Given the description of an element on the screen output the (x, y) to click on. 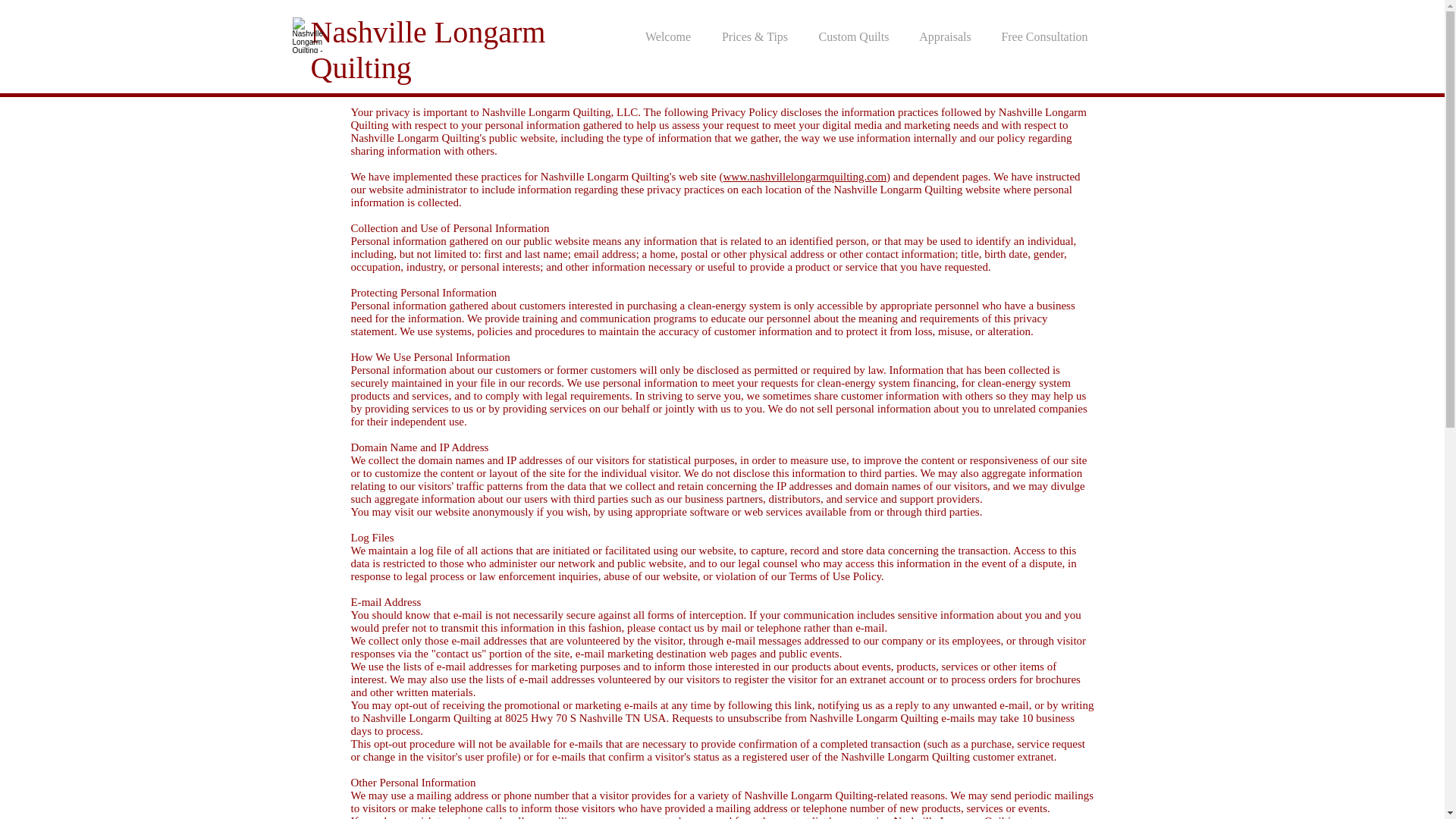
Welcome (667, 37)
Custom Quilts (853, 37)
Appraisals (944, 37)
www.nashvillelongarmquilting.com (804, 176)
Free Consultation (1043, 37)
